Given the description of an element on the screen output the (x, y) to click on. 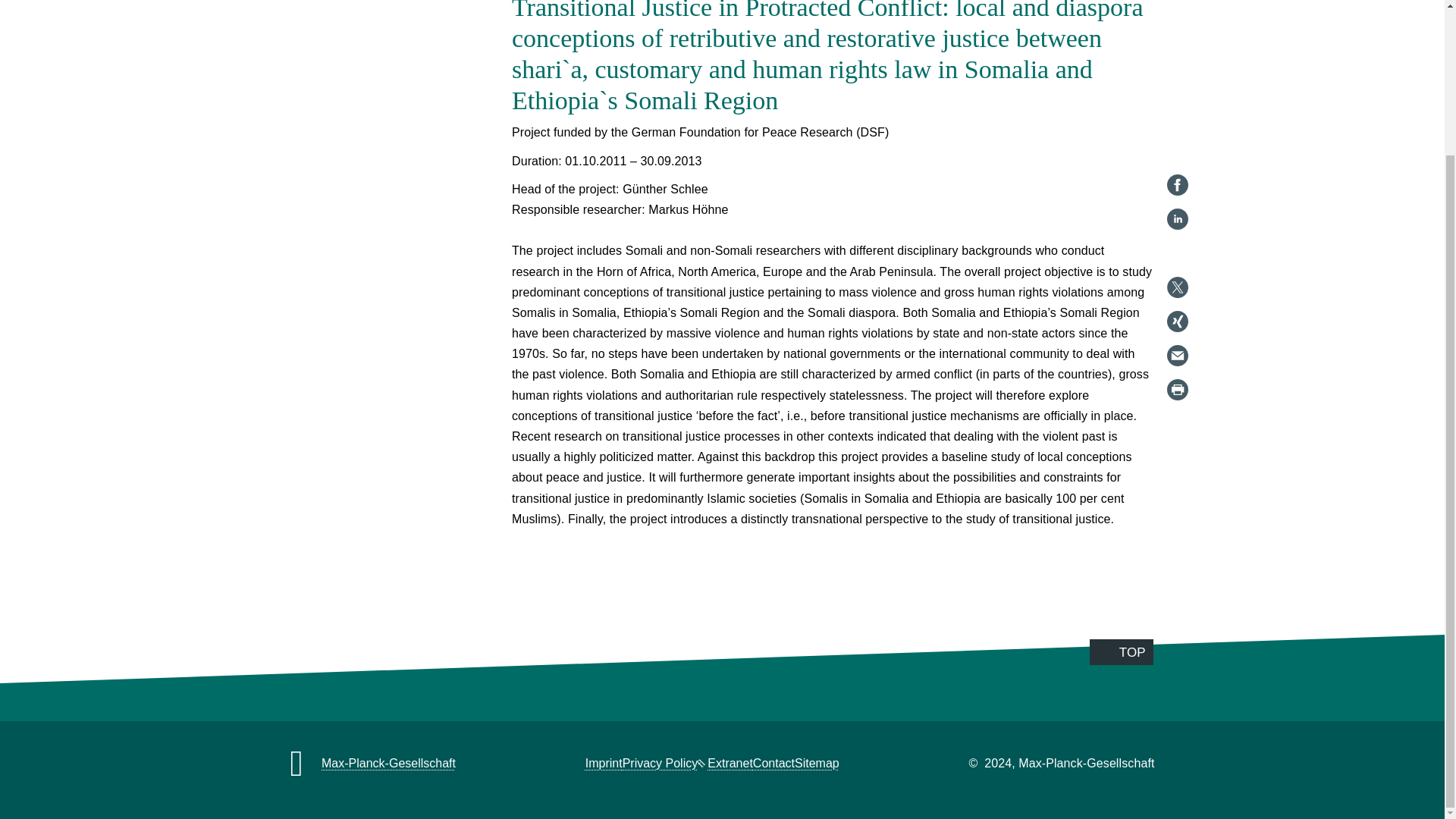
Facebook (1177, 7)
LinkedIn (1177, 37)
Twitter (1177, 106)
E-Mail (1177, 173)
Print (1177, 208)
Reddit (1177, 71)
Xing (1177, 139)
